Given the description of an element on the screen output the (x, y) to click on. 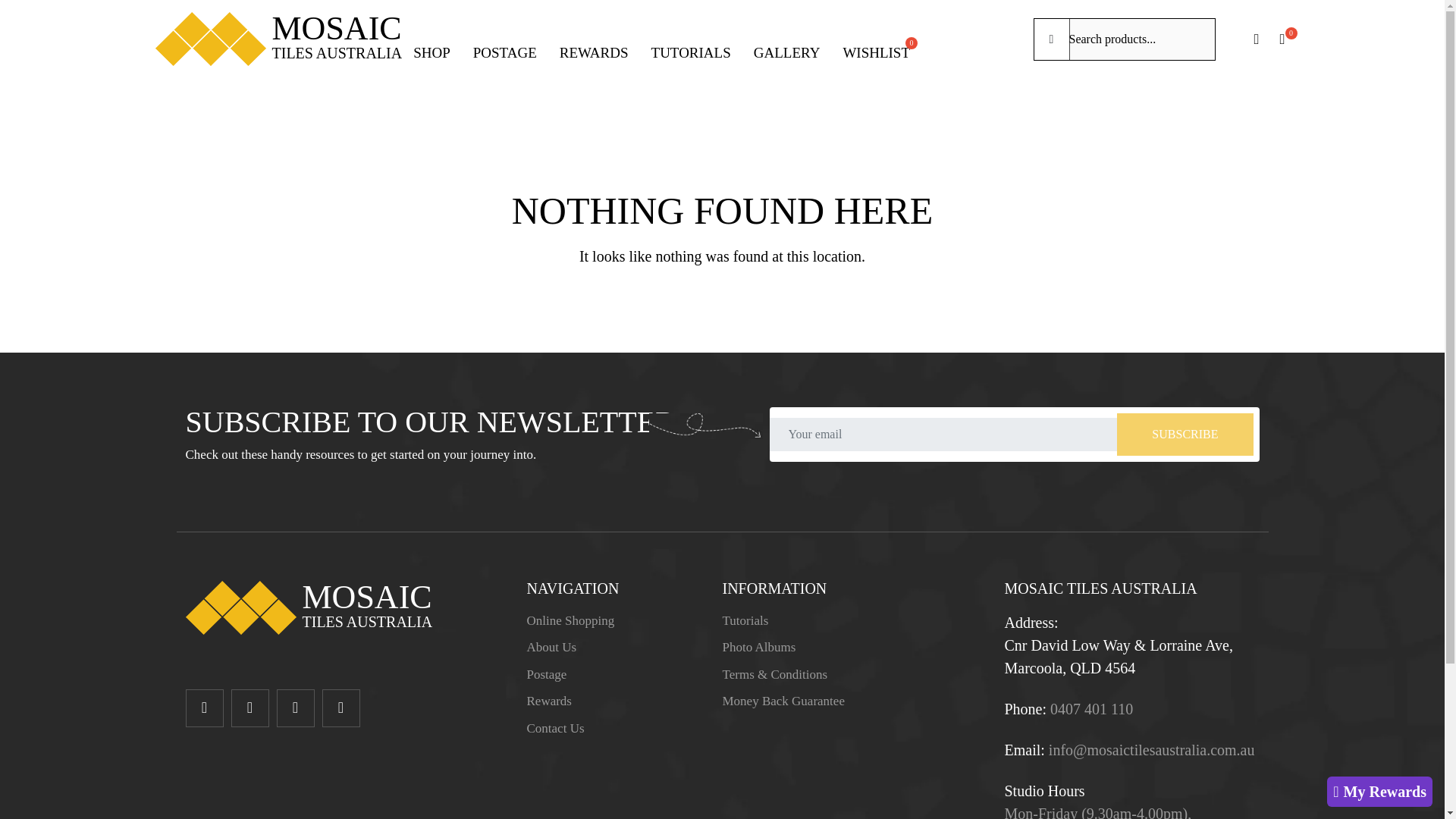
WISHLIST (876, 52)
Postage (545, 674)
SUBSCRIBE (277, 39)
Postage (1184, 434)
Online Shopping (545, 674)
Money Back Guarantee (569, 619)
Contact Us (783, 700)
REWARDS (554, 727)
Tutorials (593, 52)
Rewards (745, 619)
About Us (547, 700)
Tutorials (550, 646)
Online Shopping (745, 619)
About Us (569, 619)
